Given the description of an element on the screen output the (x, y) to click on. 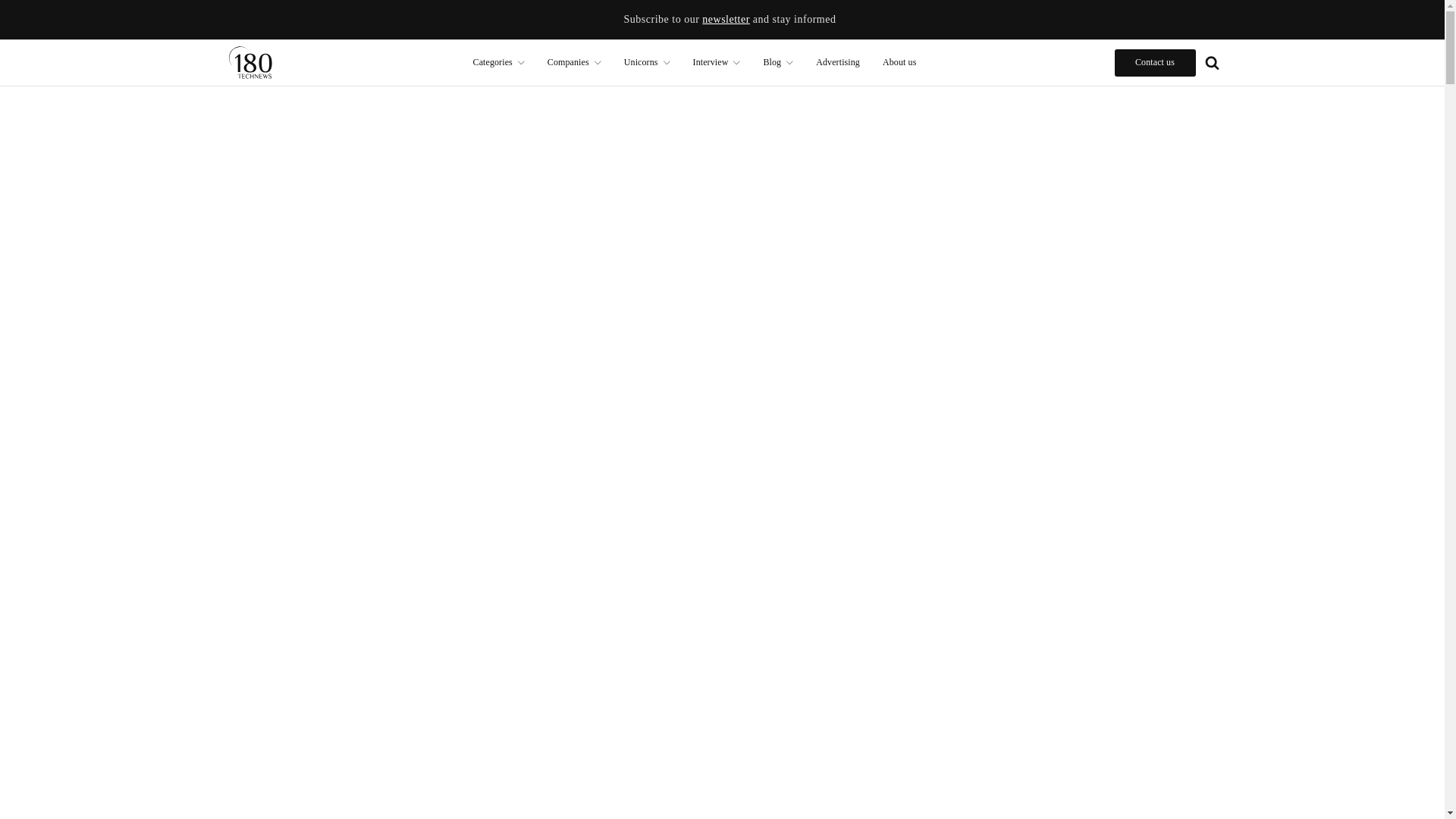
Unicorns (646, 62)
newsletter (725, 19)
Companies (573, 62)
About us (898, 62)
Blog (778, 62)
Contact us (1155, 62)
Categories (498, 62)
Interview (716, 62)
Advertising (837, 62)
